Given the description of an element on the screen output the (x, y) to click on. 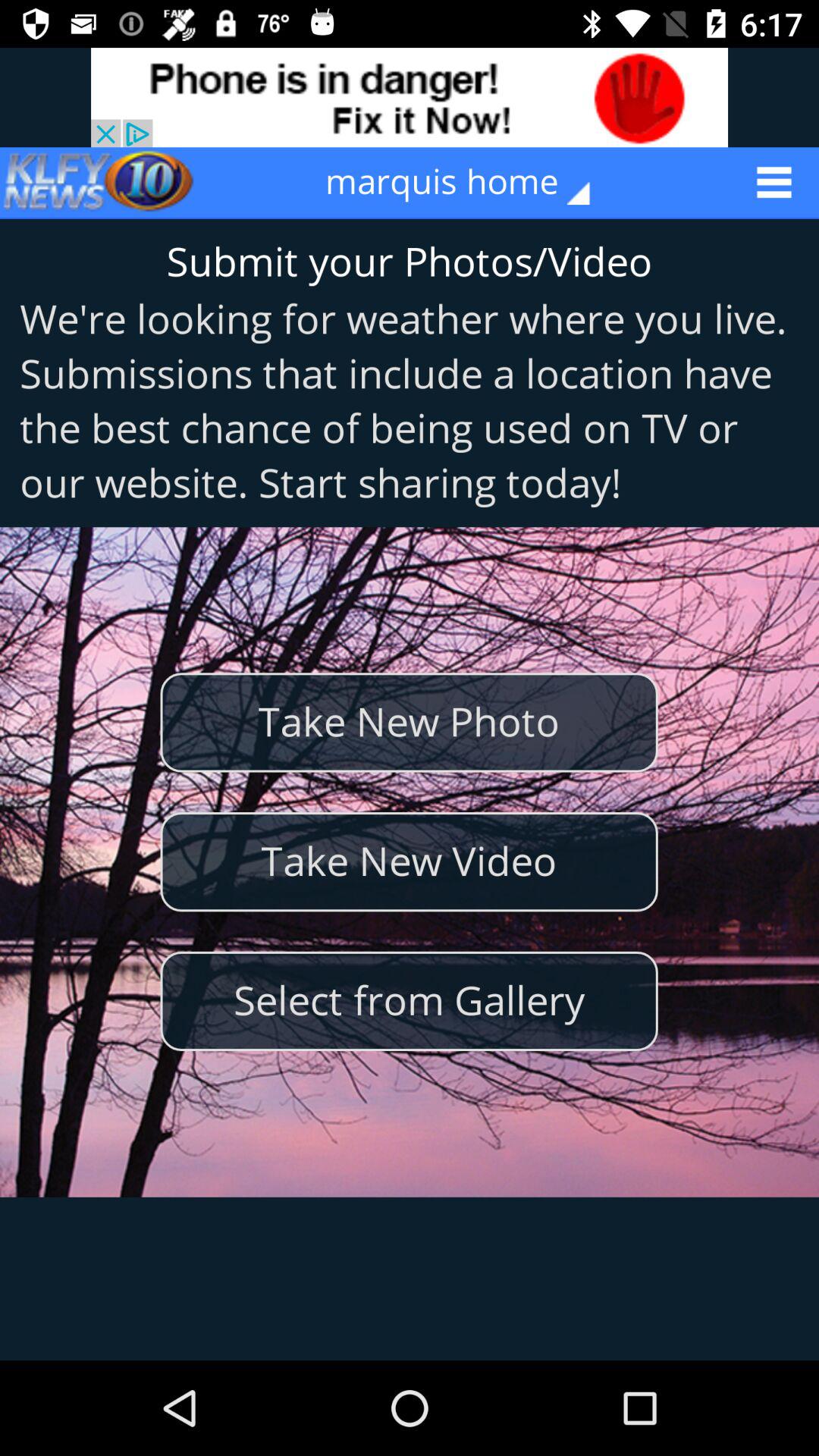
turn off item below the take new video (409, 1001)
